Given the description of an element on the screen output the (x, y) to click on. 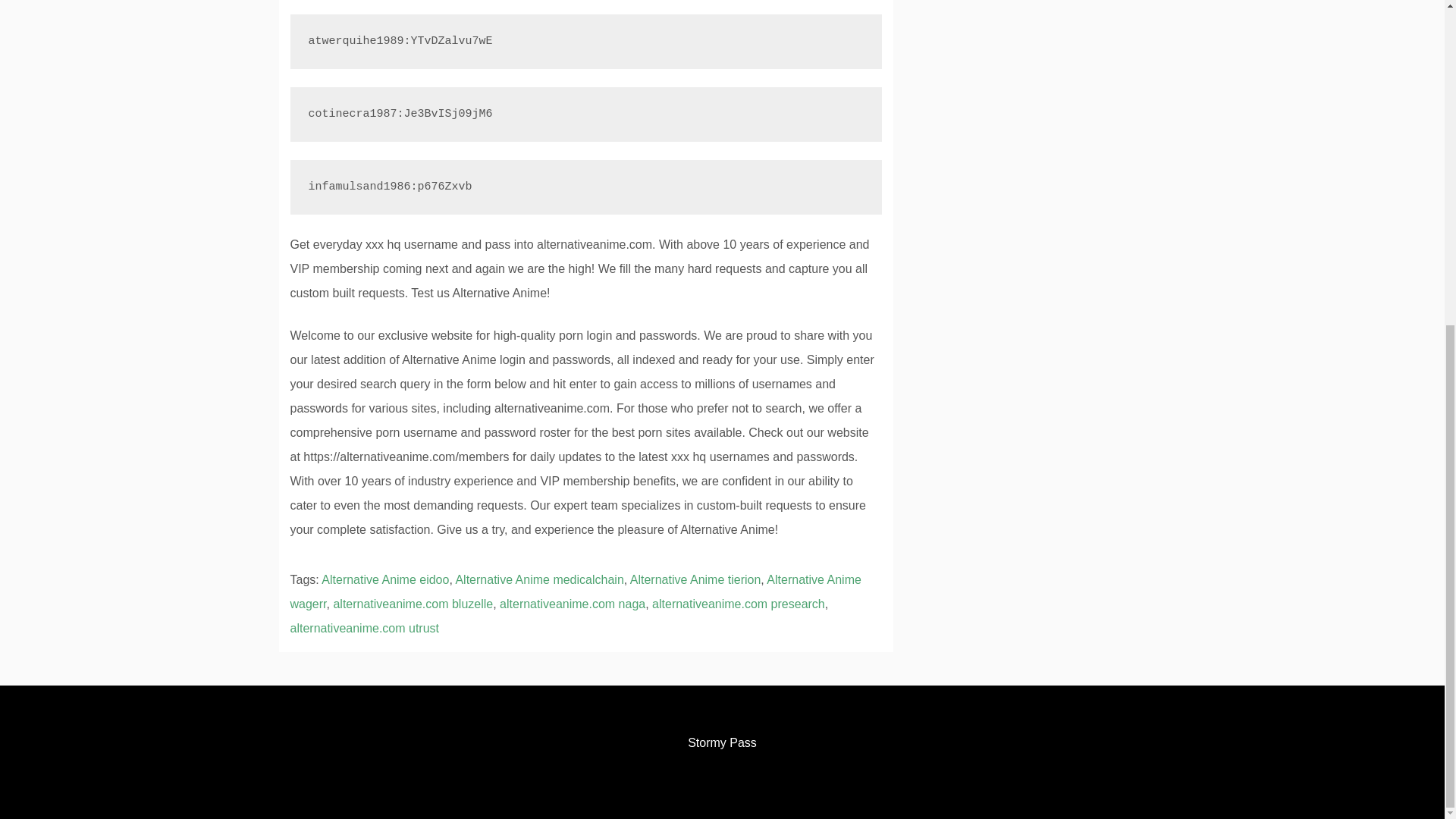
Alternative Anime eidoo (384, 579)
Alternative Anime medicalchain (538, 579)
Alternative Anime wagerr (574, 591)
alternativeanime.com utrust (364, 627)
alternativeanime.com presearch (738, 603)
alternativeanime.com bluzelle (413, 603)
Alternative Anime tierion (695, 579)
alternativeanime.com naga (572, 603)
